Given the description of an element on the screen output the (x, y) to click on. 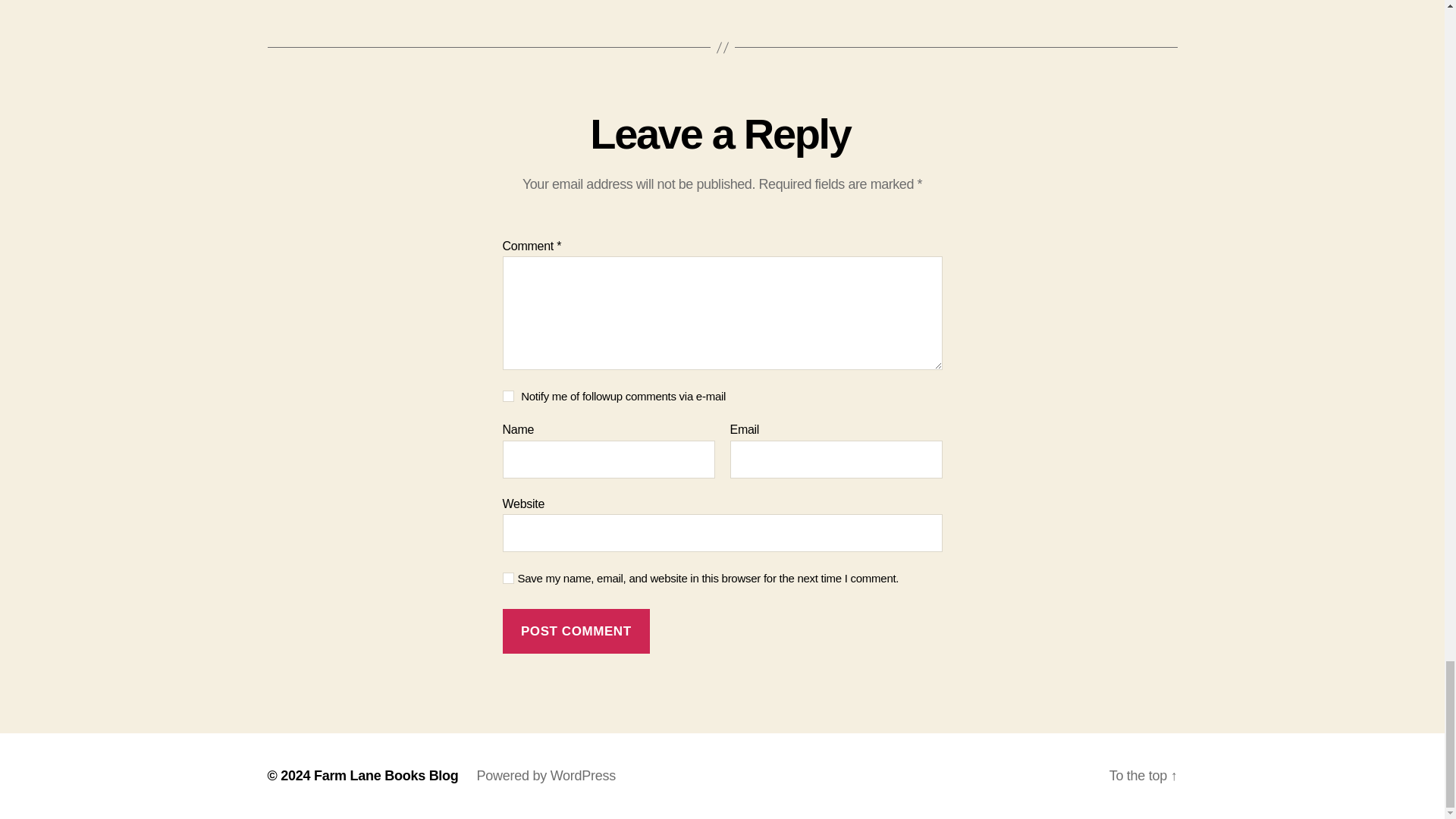
subscribe (507, 396)
yes (507, 577)
Post Comment (575, 631)
